Given the description of an element on the screen output the (x, y) to click on. 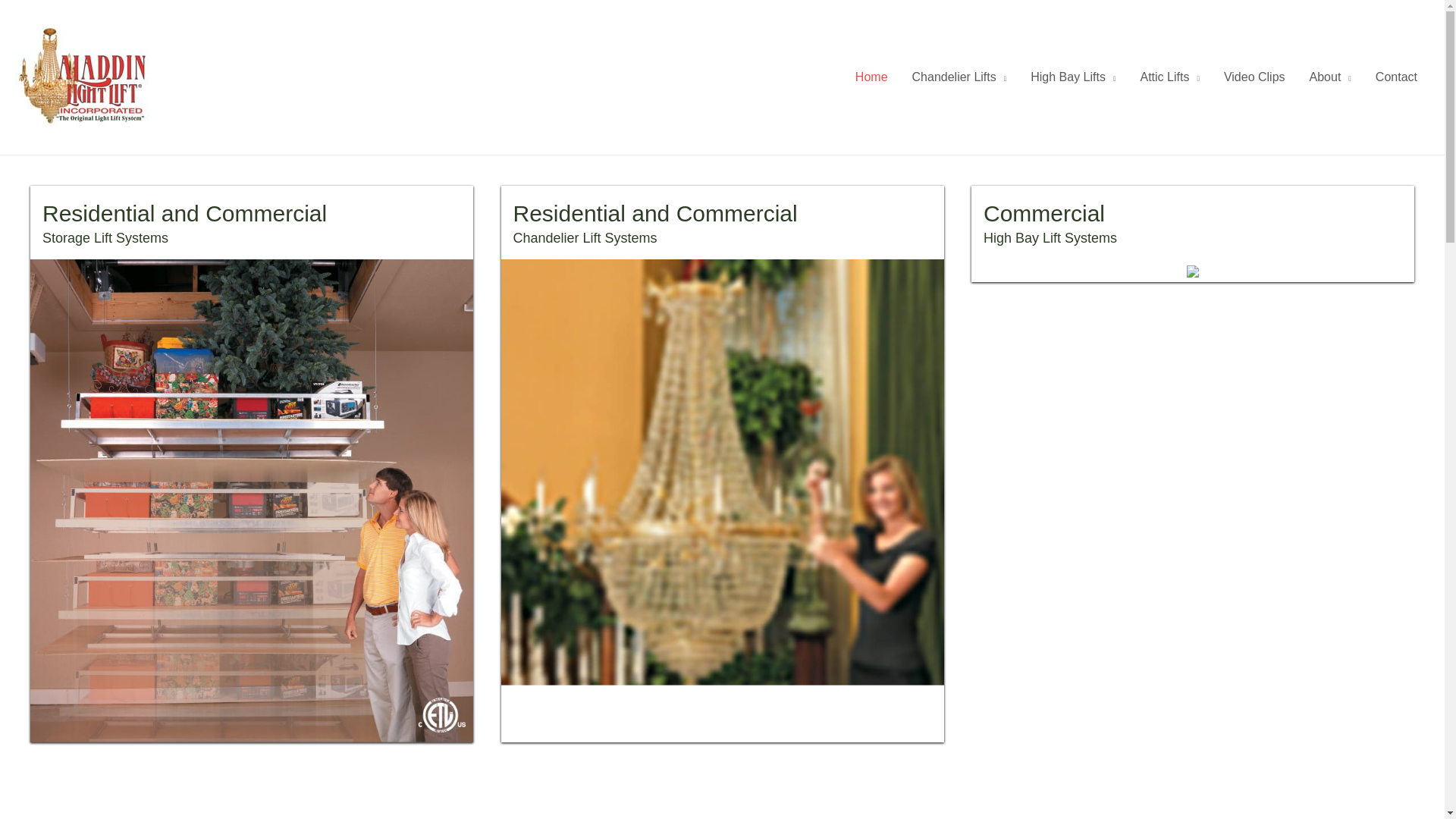
Contact (1395, 77)
Attic Lifts (1168, 77)
Home (871, 77)
High Bay Lifts (1071, 77)
Video Clips (1254, 77)
About (1329, 77)
Chandelier Lifts (959, 77)
